Given the description of an element on the screen output the (x, y) to click on. 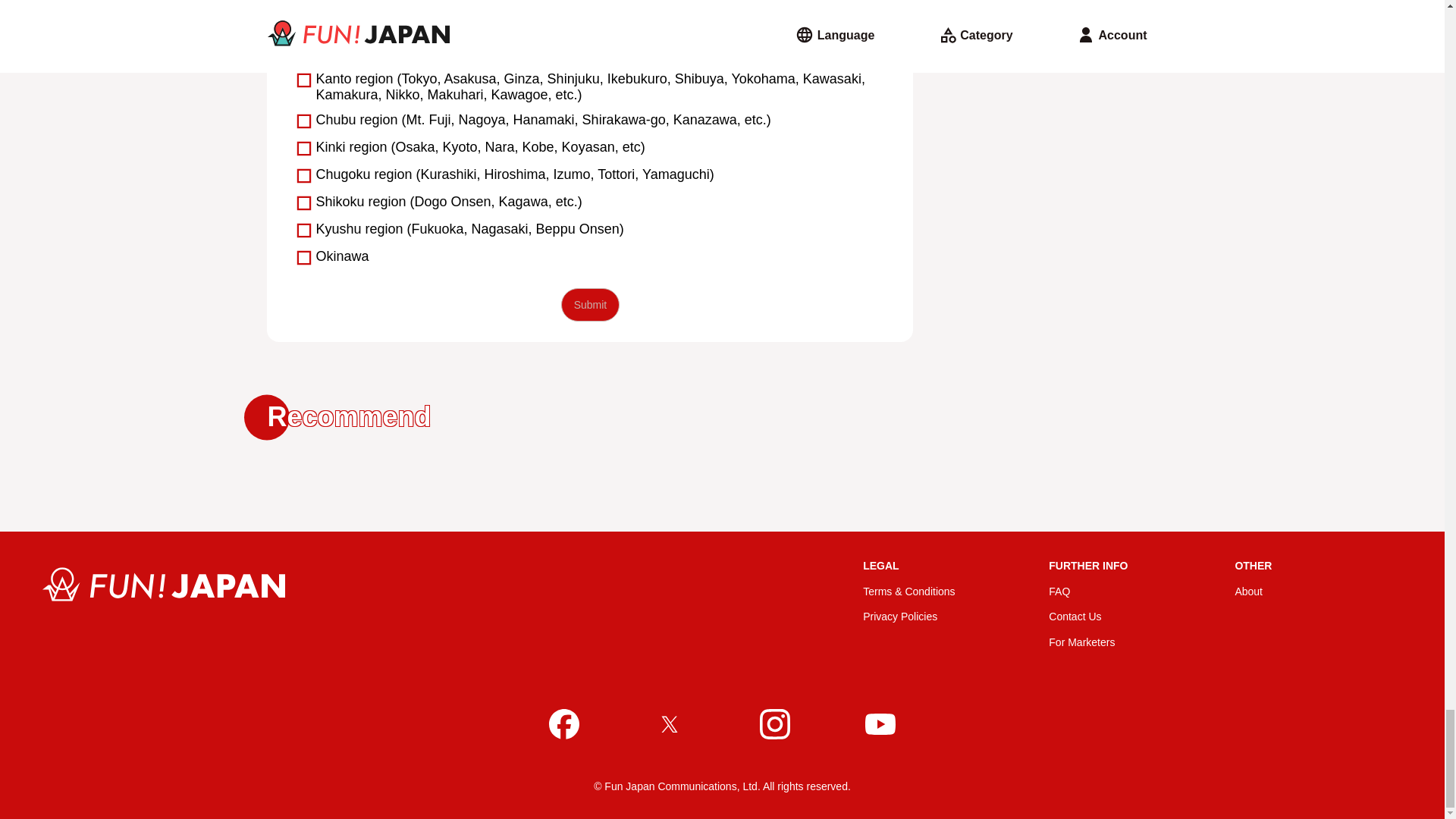
Submit (590, 304)
